Given the description of an element on the screen output the (x, y) to click on. 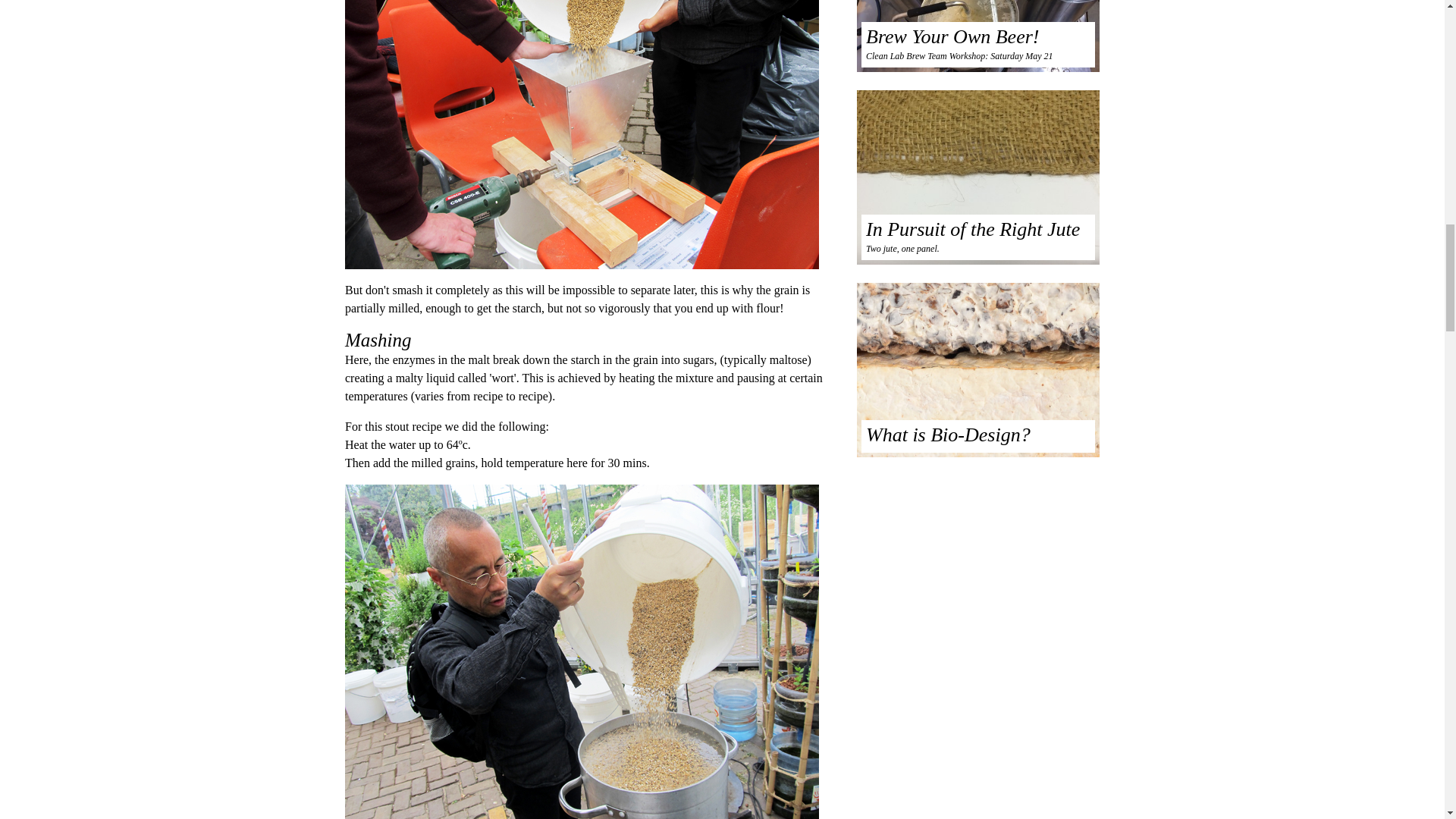
Milling (589, 134)
